Given the description of an element on the screen output the (x, y) to click on. 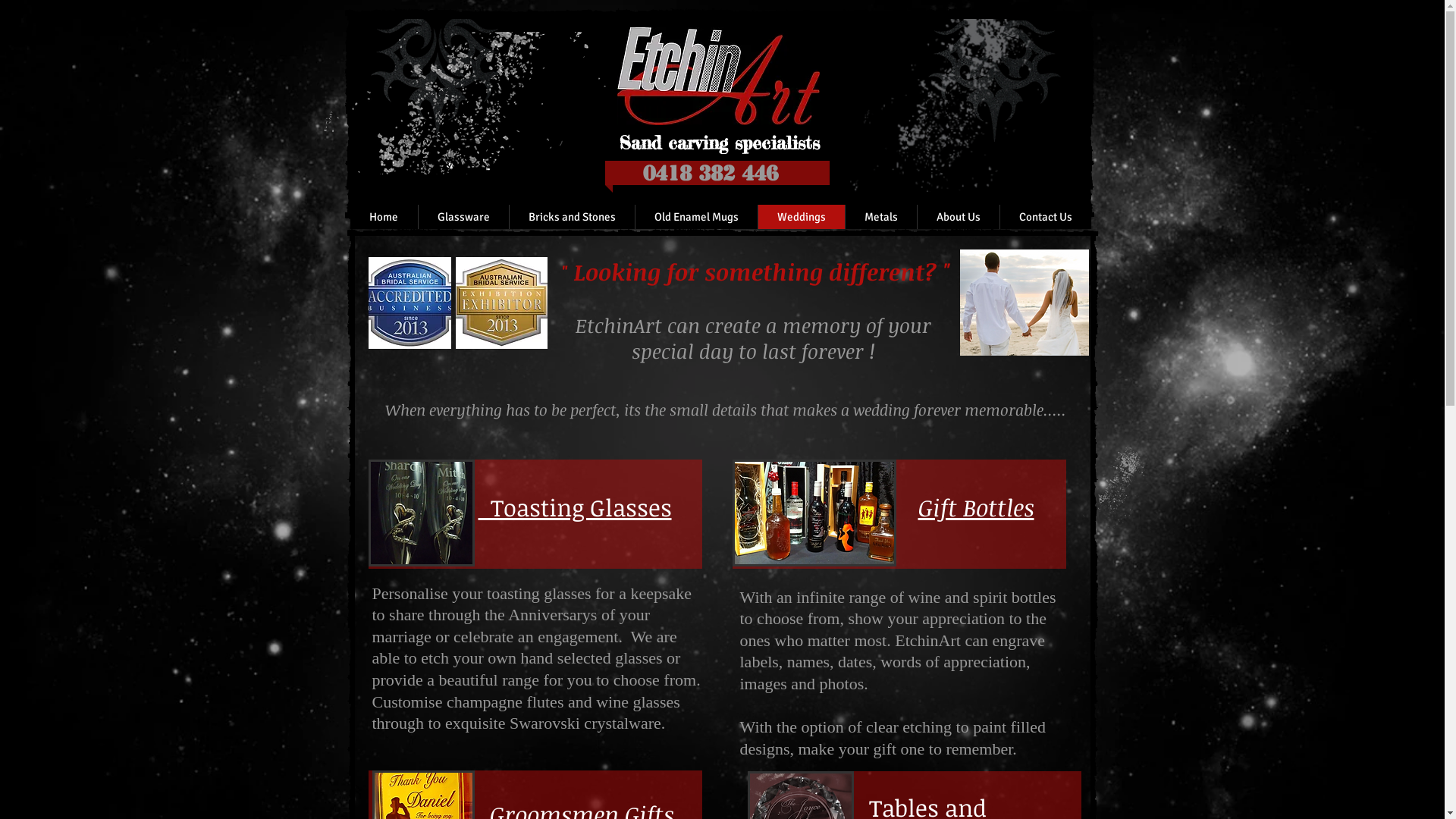
  Toasting Glasses Element type: text (574, 507)
Home Element type: text (383, 216)
Glassware Element type: text (462, 216)
Bricks and Stones Element type: text (570, 216)
Contact Us Element type: text (1045, 216)
Metals Element type: text (880, 216)
About Us Element type: text (957, 216)
Weddings Element type: text (800, 216)
Old Enamel Mugs Element type: text (694, 216)
Gift Bottles Element type: text (975, 507)
